Given the description of an element on the screen output the (x, y) to click on. 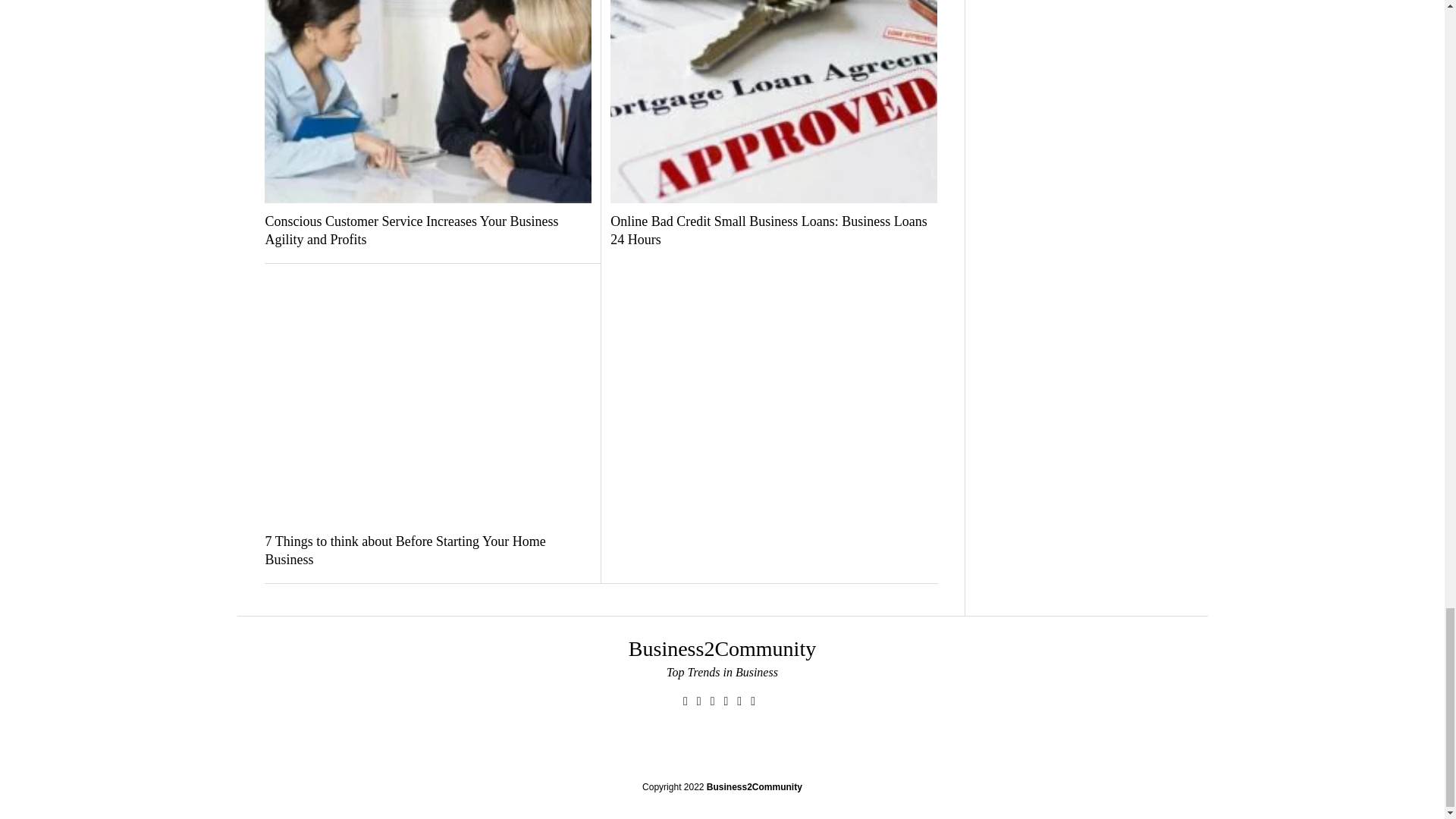
7 Things to think about Before Starting Your Home Business (427, 551)
